Given the description of an element on the screen output the (x, y) to click on. 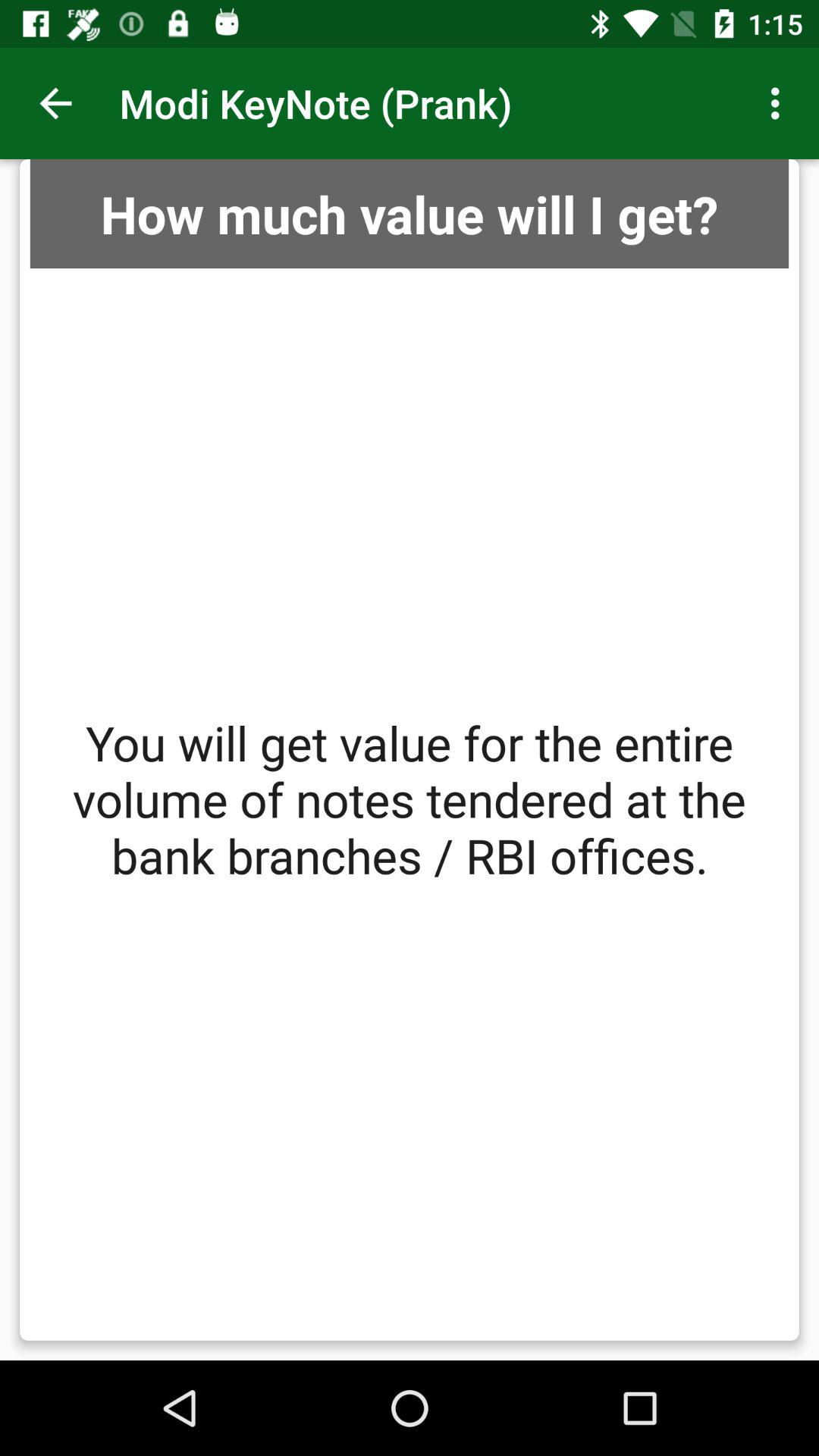
press item above how much value (779, 103)
